Given the description of an element on the screen output the (x, y) to click on. 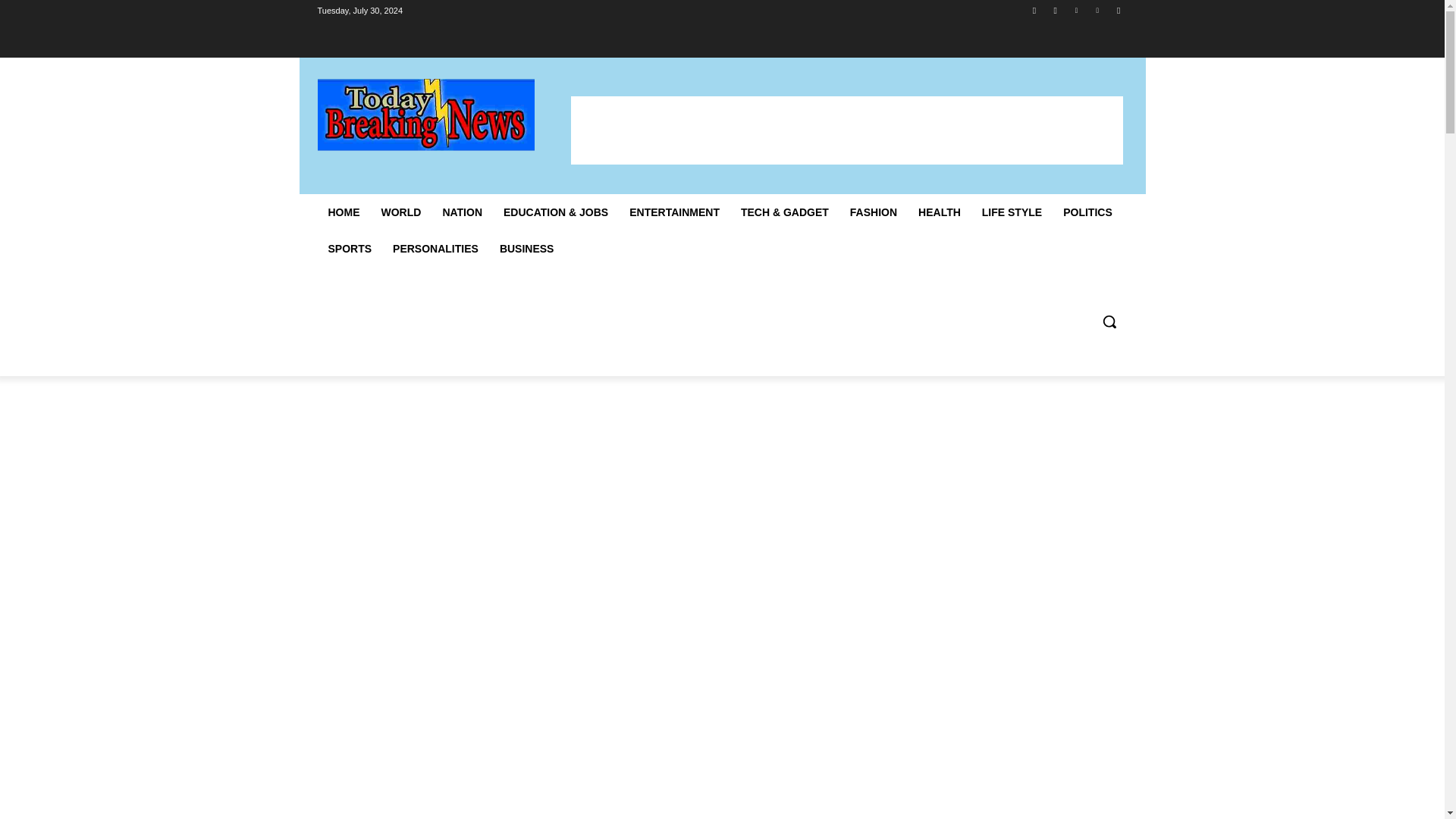
Facebook (1034, 9)
Youtube (1117, 9)
Twitter (1075, 9)
Vimeo (1097, 9)
HOME (343, 212)
Instagram (1055, 9)
